Given the description of an element on the screen output the (x, y) to click on. 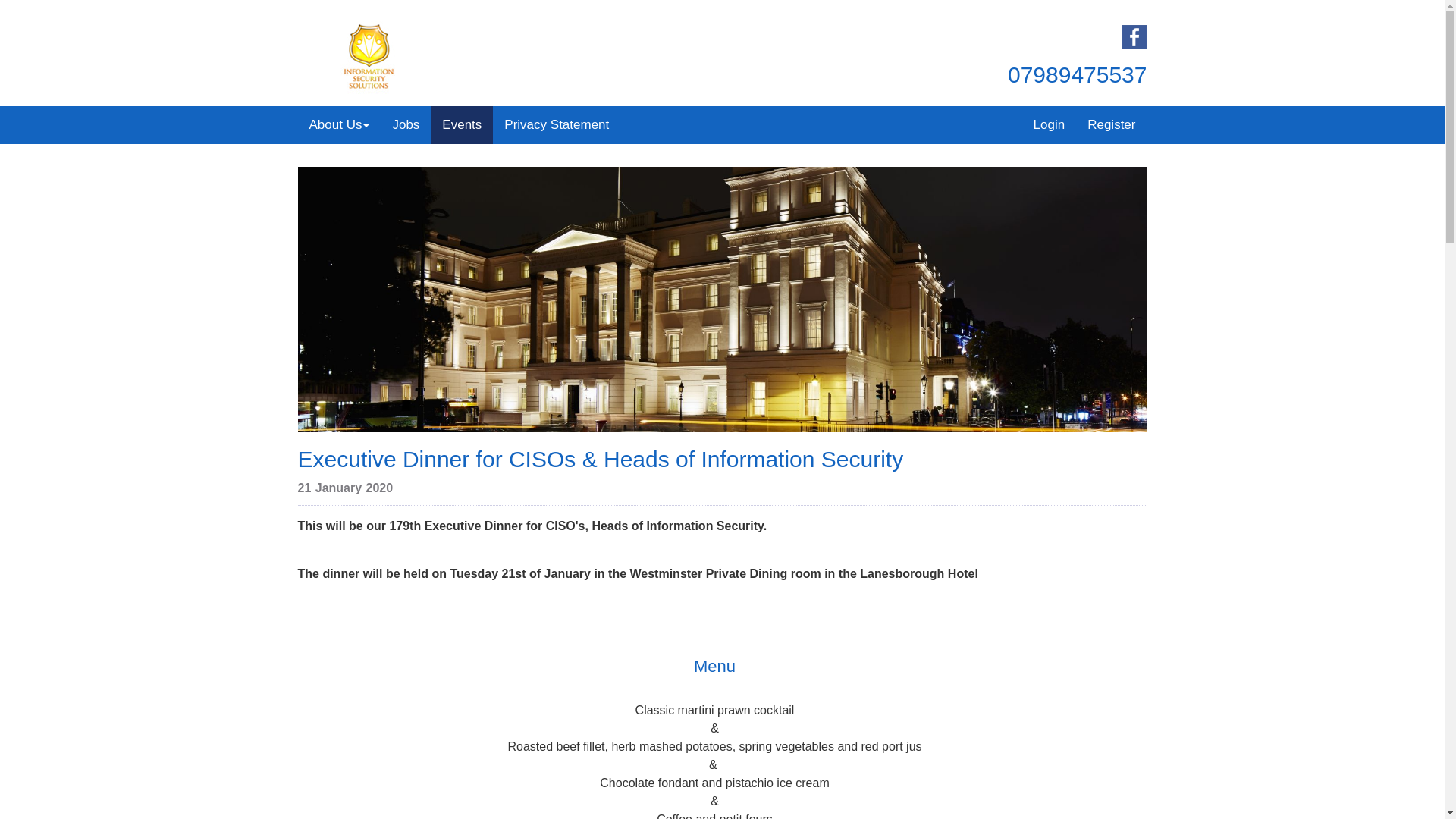
Jobs (405, 125)
Register (1111, 125)
Privacy Statement (556, 125)
Login (1049, 125)
Events (461, 125)
About Us (338, 125)
